Given the description of an element on the screen output the (x, y) to click on. 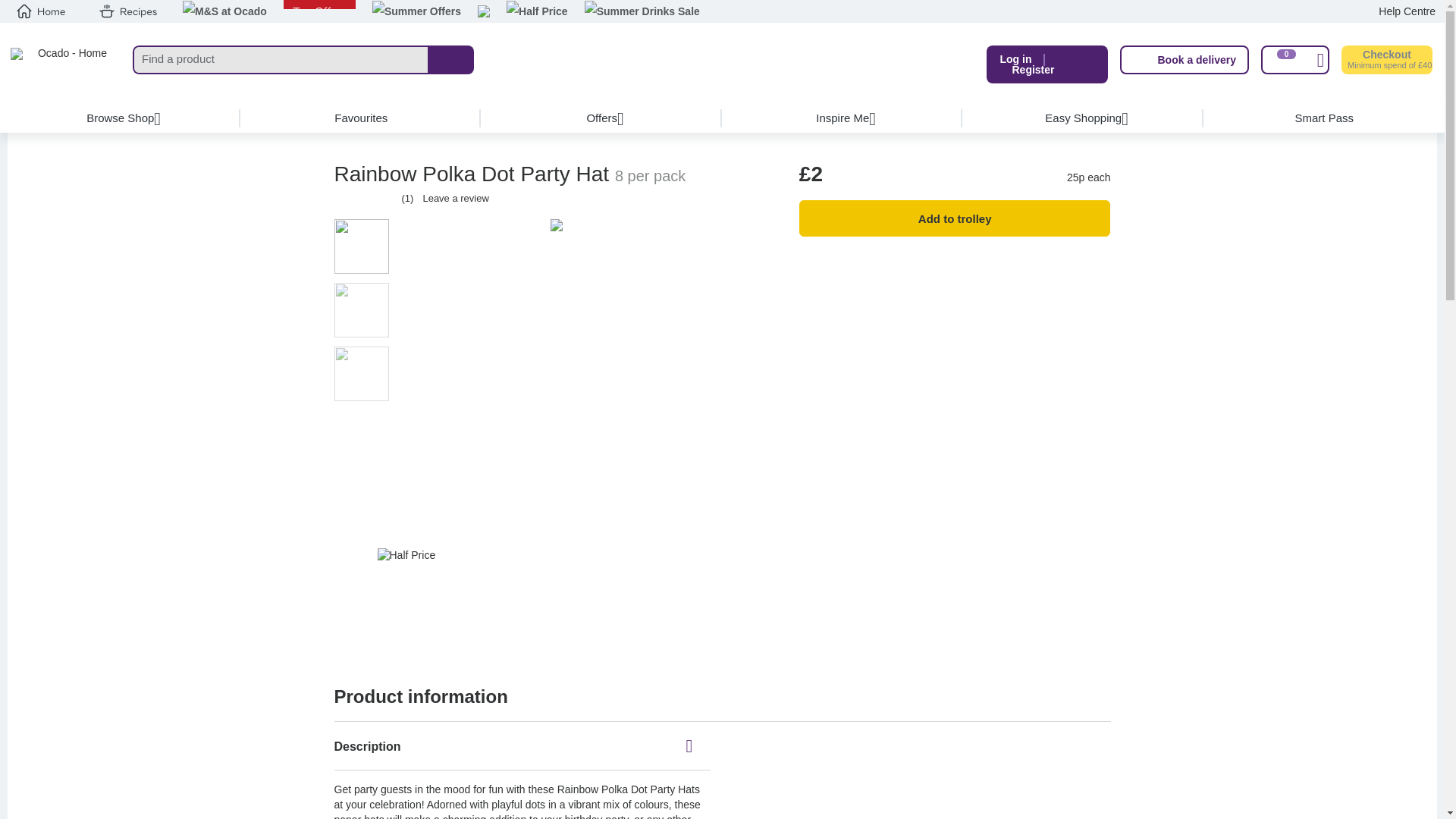
Find a product (280, 59)
Add to trolley (954, 217)
Leave a review (454, 197)
0 (1294, 59)
Top Offers (319, 11)
Description (521, 745)
Summer Offers (416, 11)
Home (66, 64)
Easy Shopping (1083, 118)
Browse Shop (120, 118)
Reviews 5.0 of 5 (365, 198)
Half Price (536, 11)
Register (1032, 69)
Home (41, 11)
Summer Drinks Sale (642, 11)
